Given the description of an element on the screen output the (x, y) to click on. 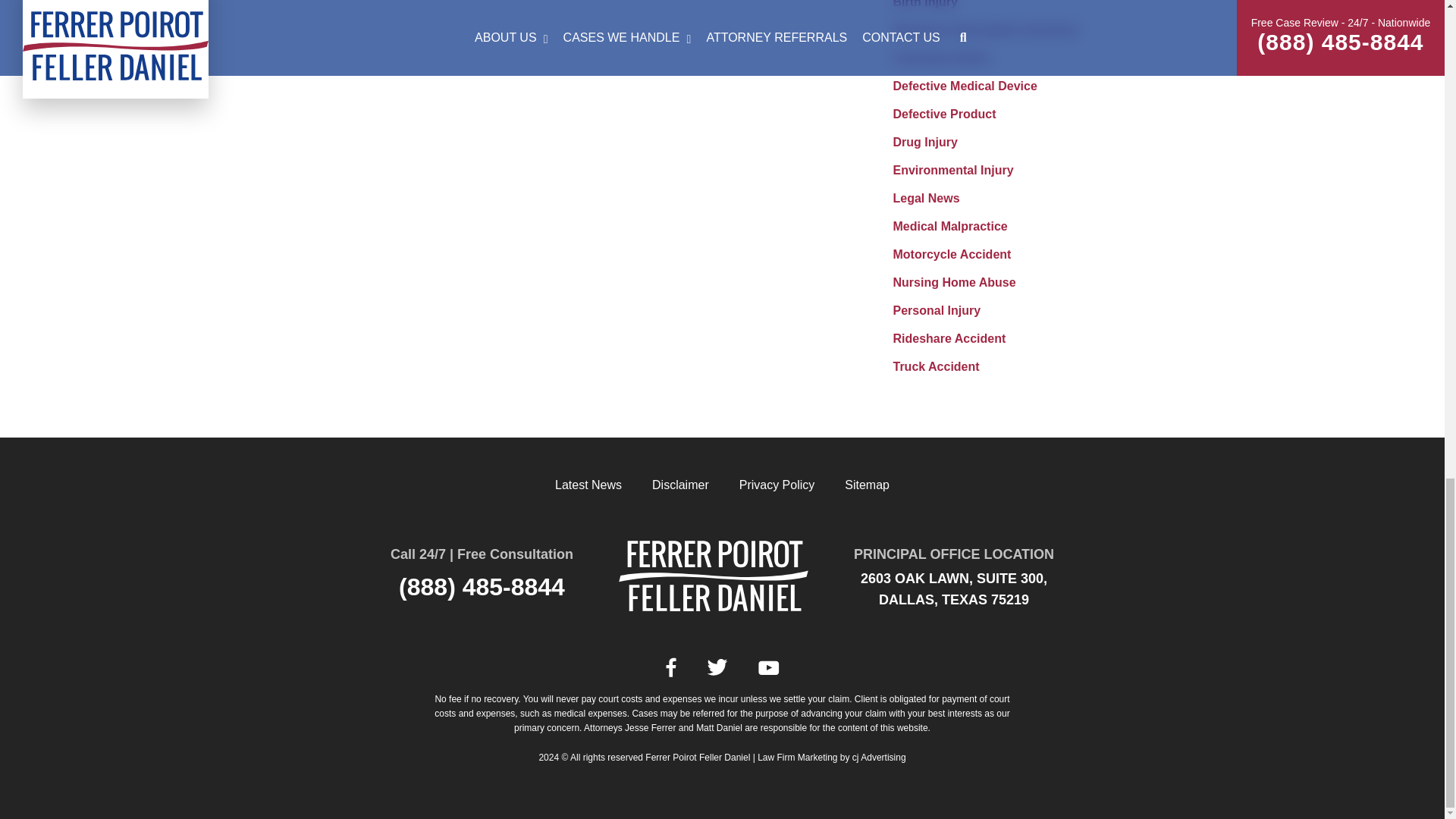
Consumer Alerts (941, 57)
Business Interruption Insurance (985, 29)
Defective Medical Device (964, 85)
Birth Injury (925, 4)
